Given the description of an element on the screen output the (x, y) to click on. 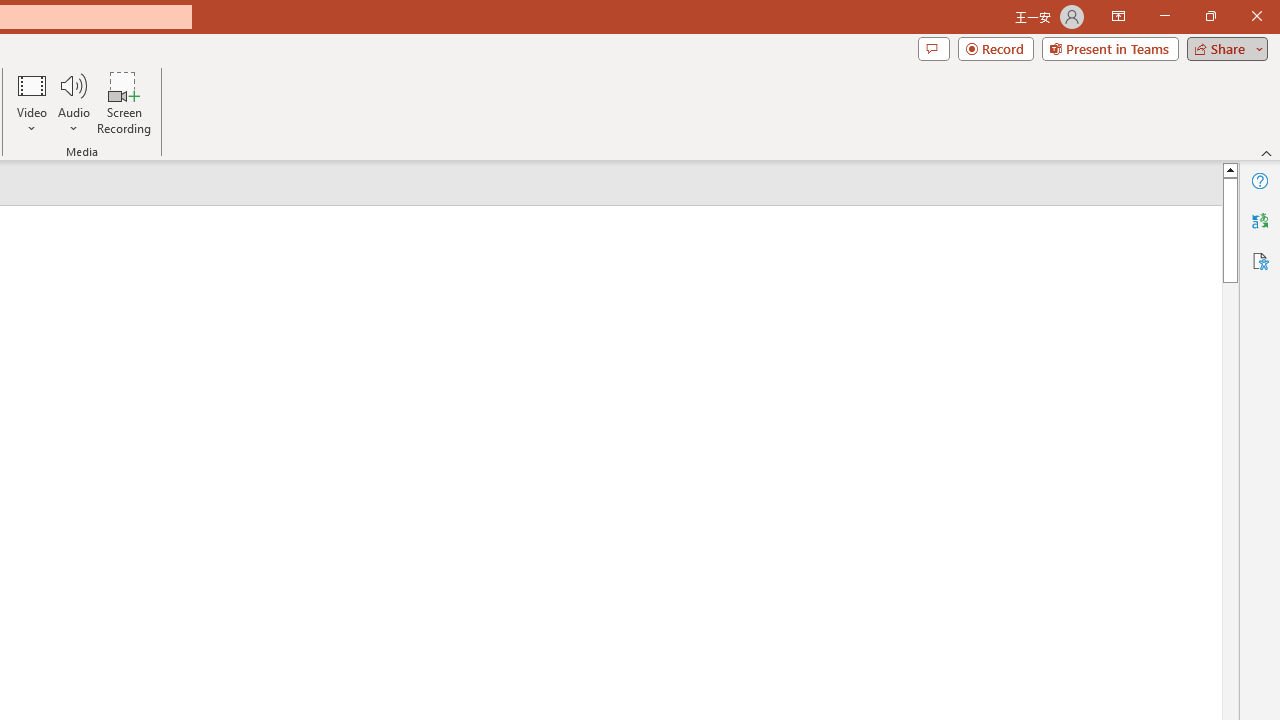
Screen Recording... (123, 102)
